Given the description of an element on the screen output the (x, y) to click on. 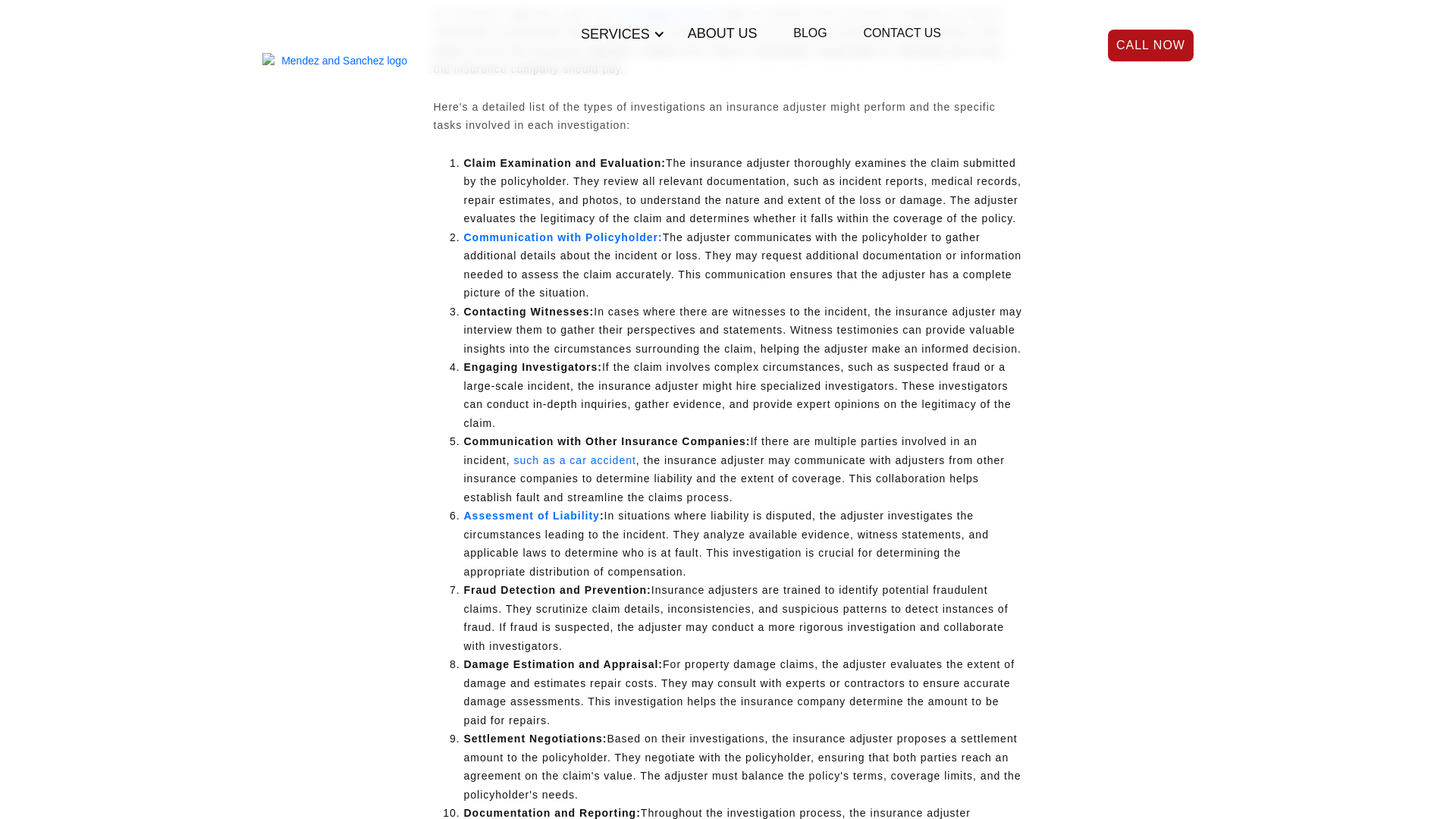
investigate claims (662, 13)
Assessment of Liability (531, 515)
such as a car accident (573, 460)
Communication with Policyholder: (563, 236)
